Given the description of an element on the screen output the (x, y) to click on. 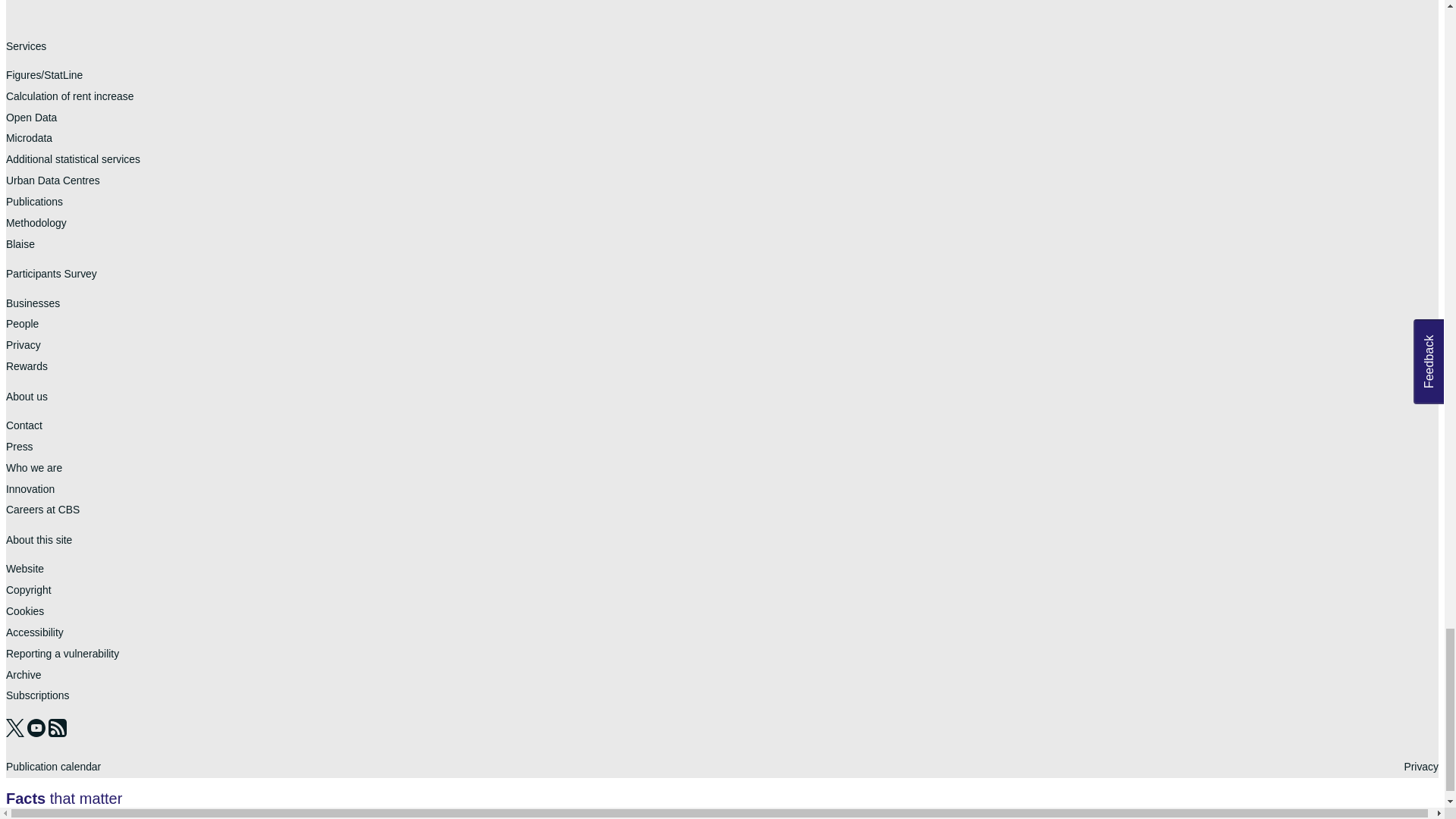
X (16, 733)
